Given the description of an element on the screen output the (x, y) to click on. 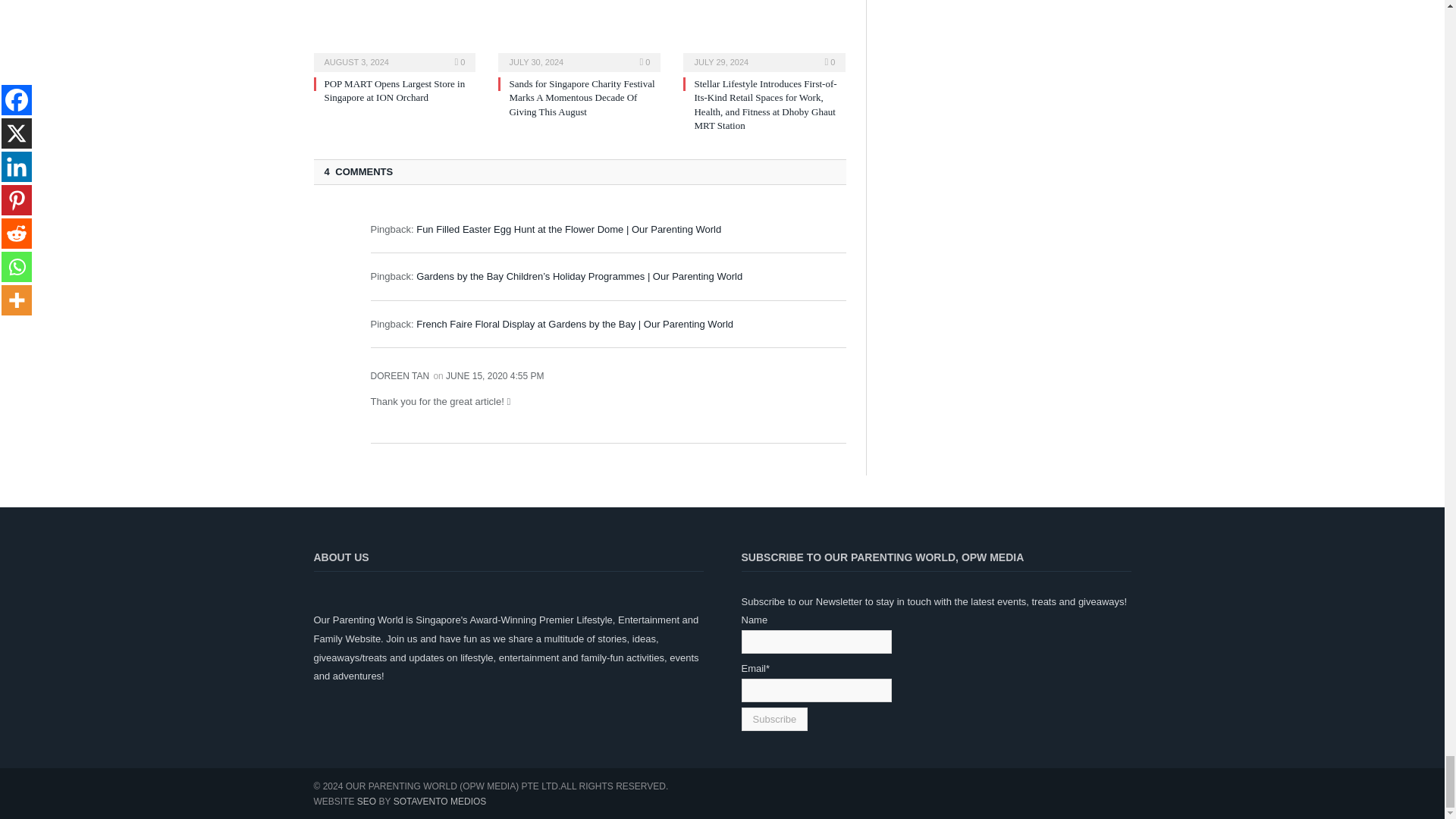
Subscribe (774, 719)
